Given the description of an element on the screen output the (x, y) to click on. 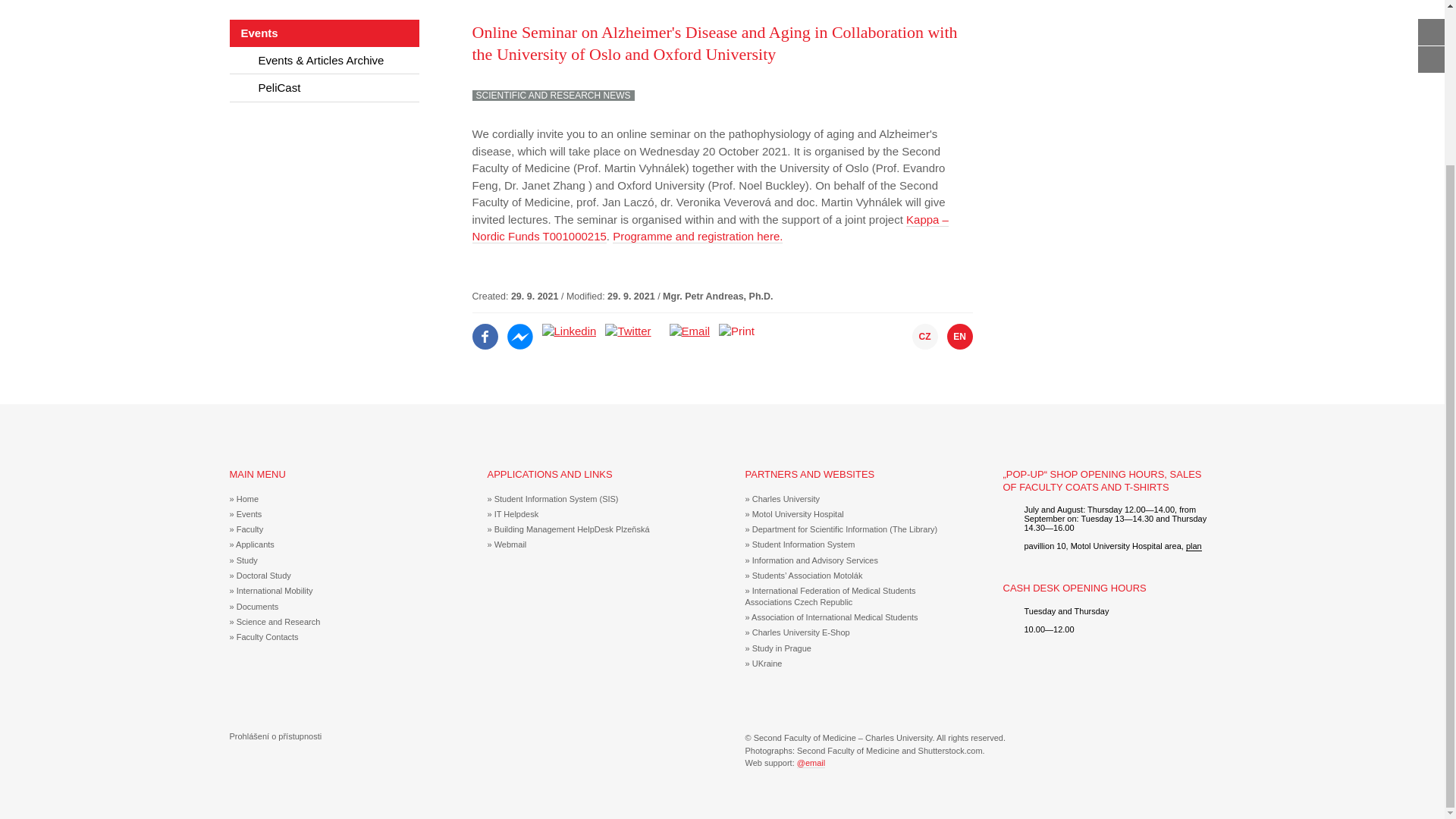
Print (736, 330)
Linkedin (568, 330)
Facebook messenger (519, 330)
Email (689, 330)
Facebook (484, 330)
Twitter (627, 330)
